Given the description of an element on the screen output the (x, y) to click on. 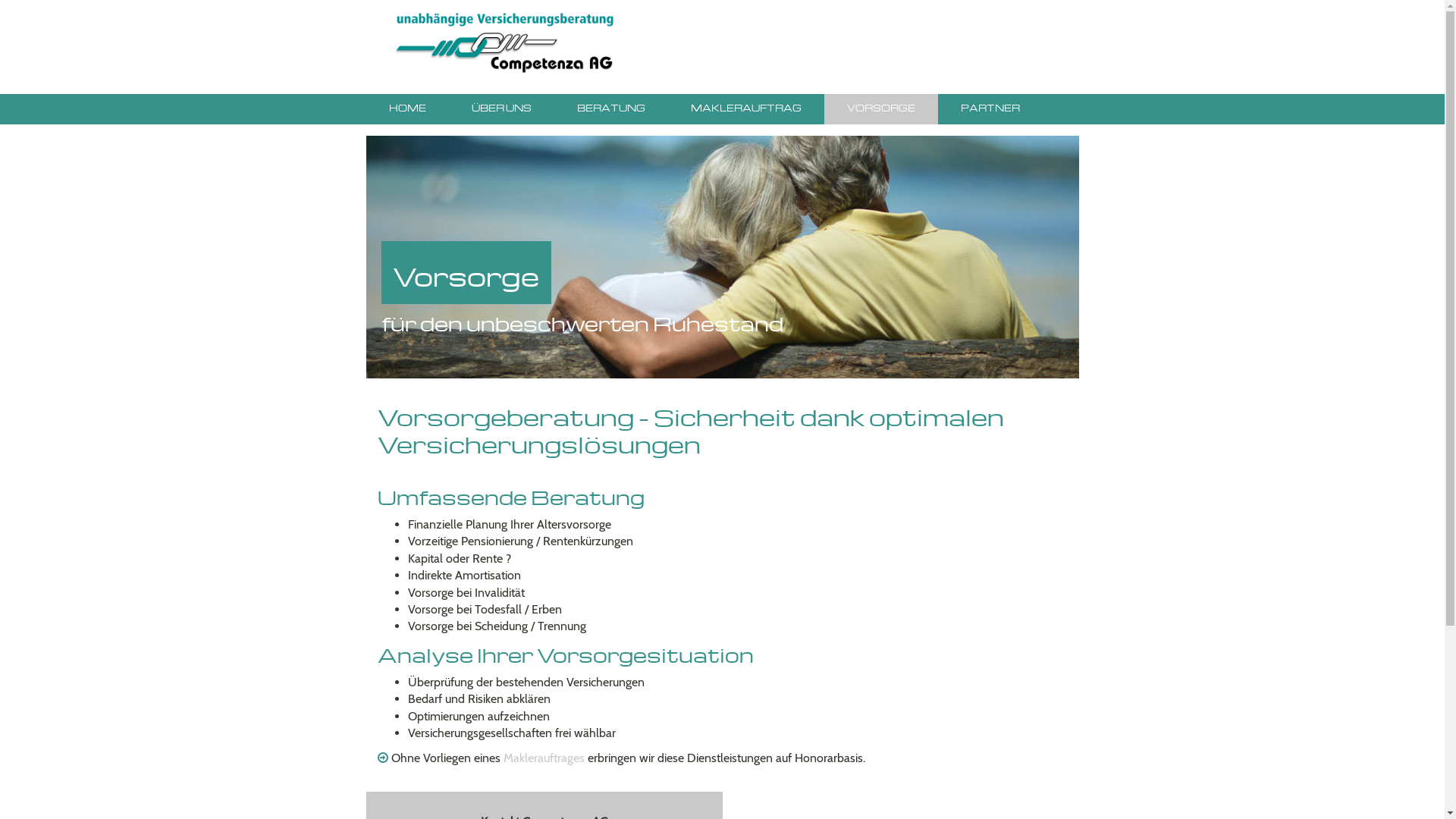
HOME Element type: text (406, 109)
BERATUNG Element type: text (610, 109)
PARTNER Element type: text (989, 109)
Maklerauftrages Element type: text (543, 757)
VORSORGE Element type: text (880, 109)
MAKLERAUFTRAG Element type: text (745, 109)
